Given the description of an element on the screen output the (x, y) to click on. 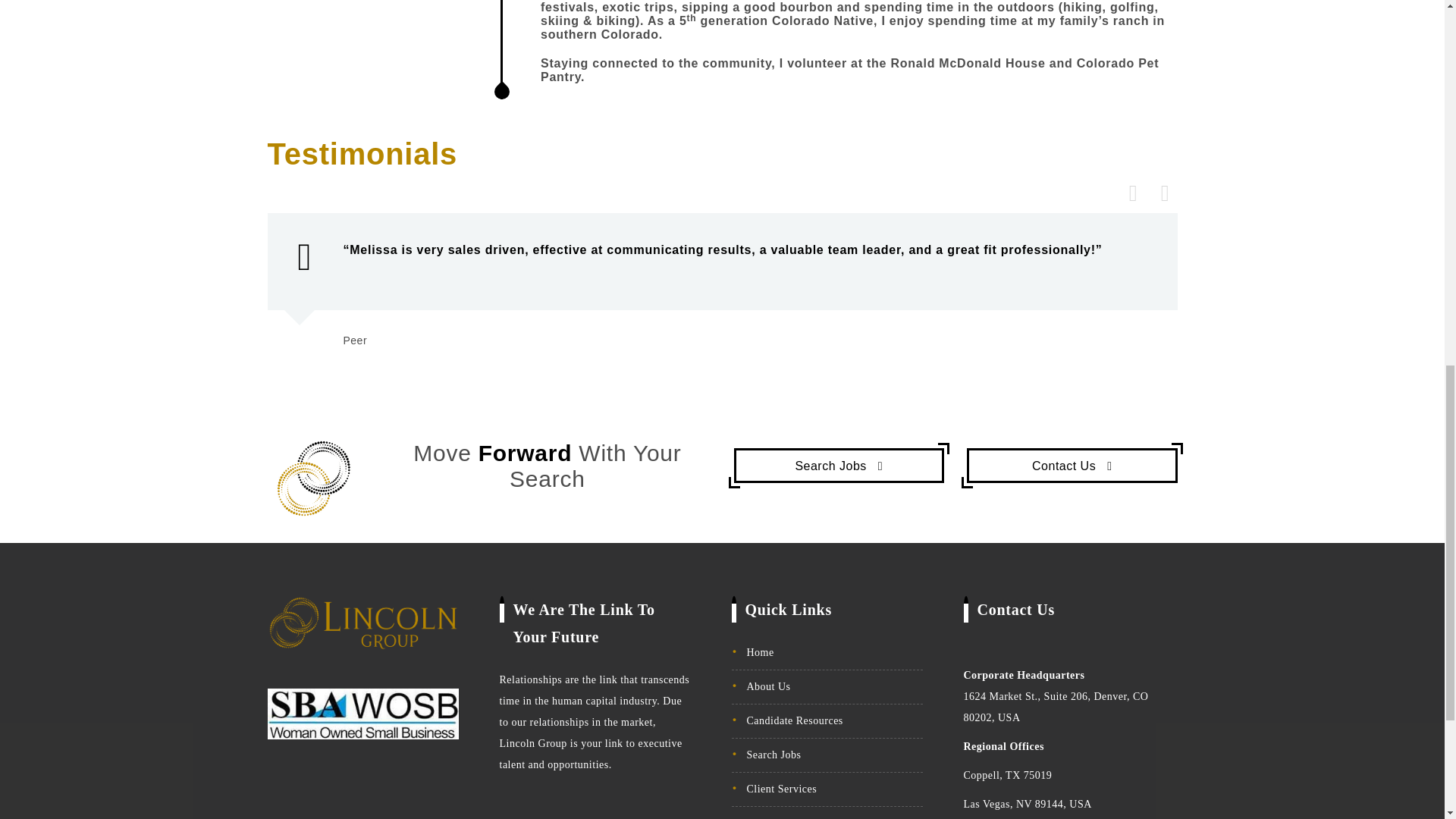
Artboard 60 (314, 478)
About (1071, 465)
About (838, 465)
Search Jobs (838, 465)
